Given the description of an element on the screen output the (x, y) to click on. 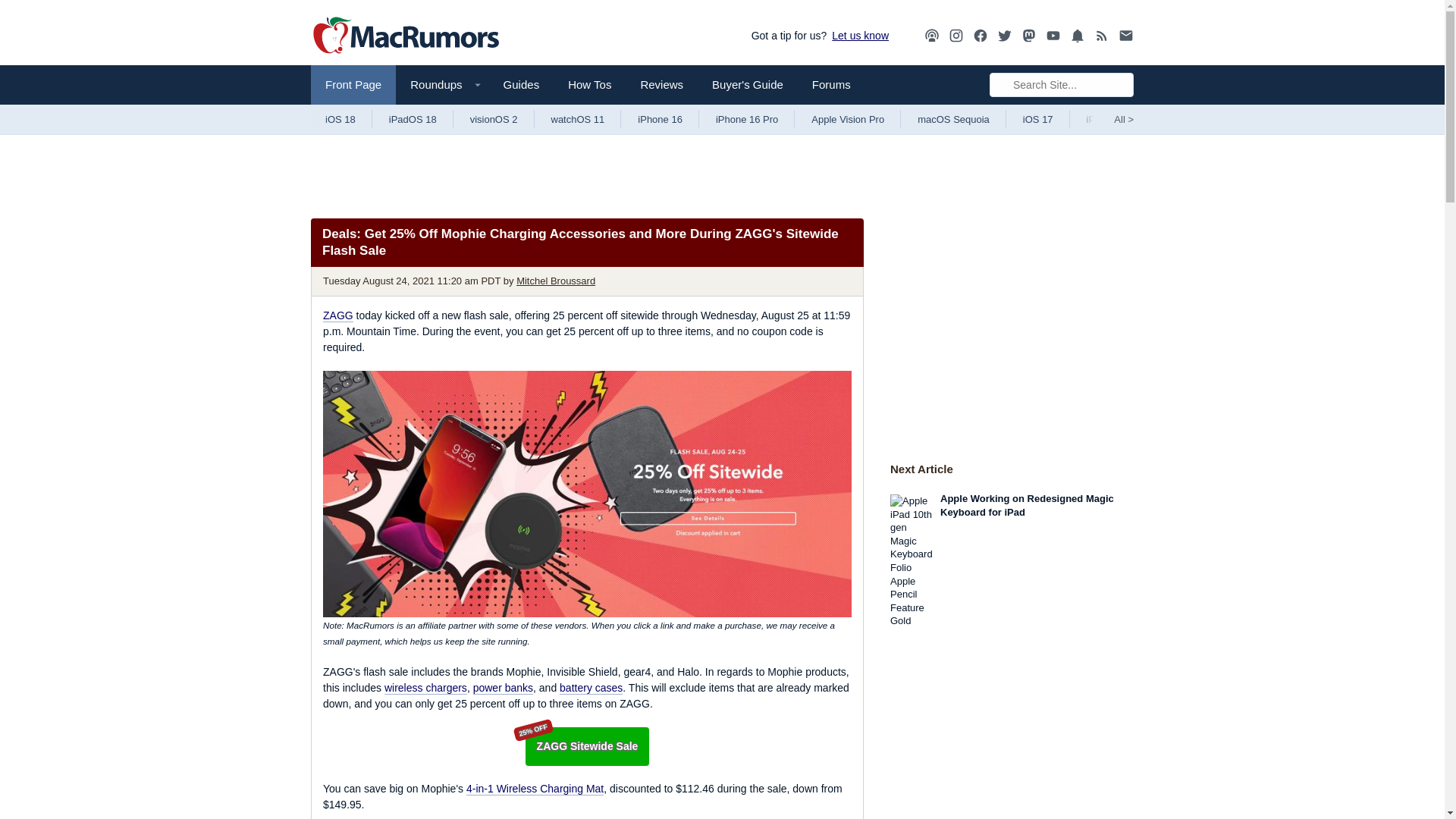
Facebook (980, 35)
Twitter (1004, 35)
Instagram (956, 35)
MacRumors Show (931, 35)
Notifications (1077, 35)
Podcast (931, 35)
MacRumors on Mastodon (1029, 35)
Front (353, 84)
Newsletter (1126, 35)
RSS (1101, 35)
